Given the description of an element on the screen output the (x, y) to click on. 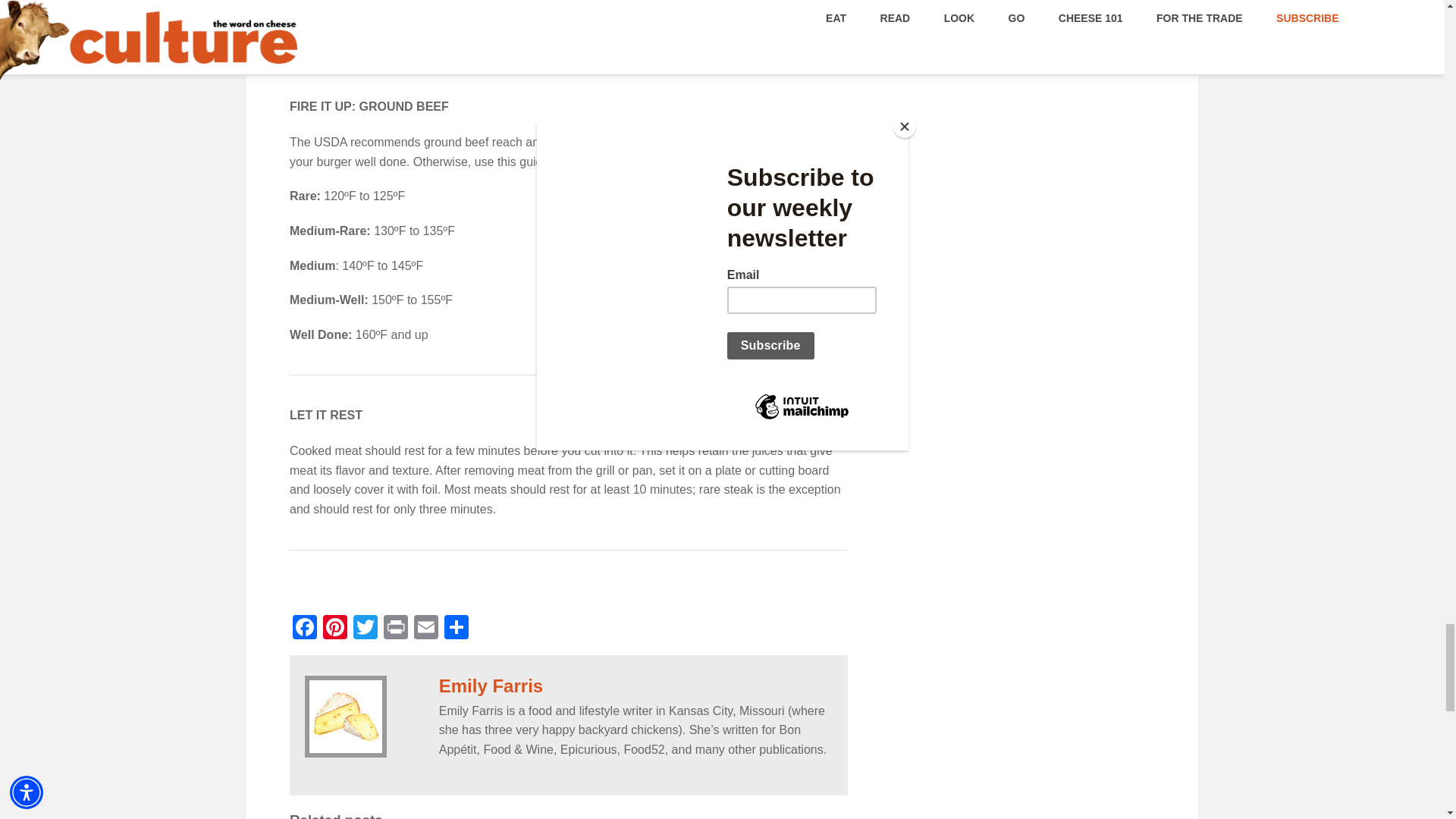
Email (425, 628)
Twitter (365, 628)
Facebook (304, 628)
Print (395, 628)
Pinterest (335, 628)
